Given the description of an element on the screen output the (x, y) to click on. 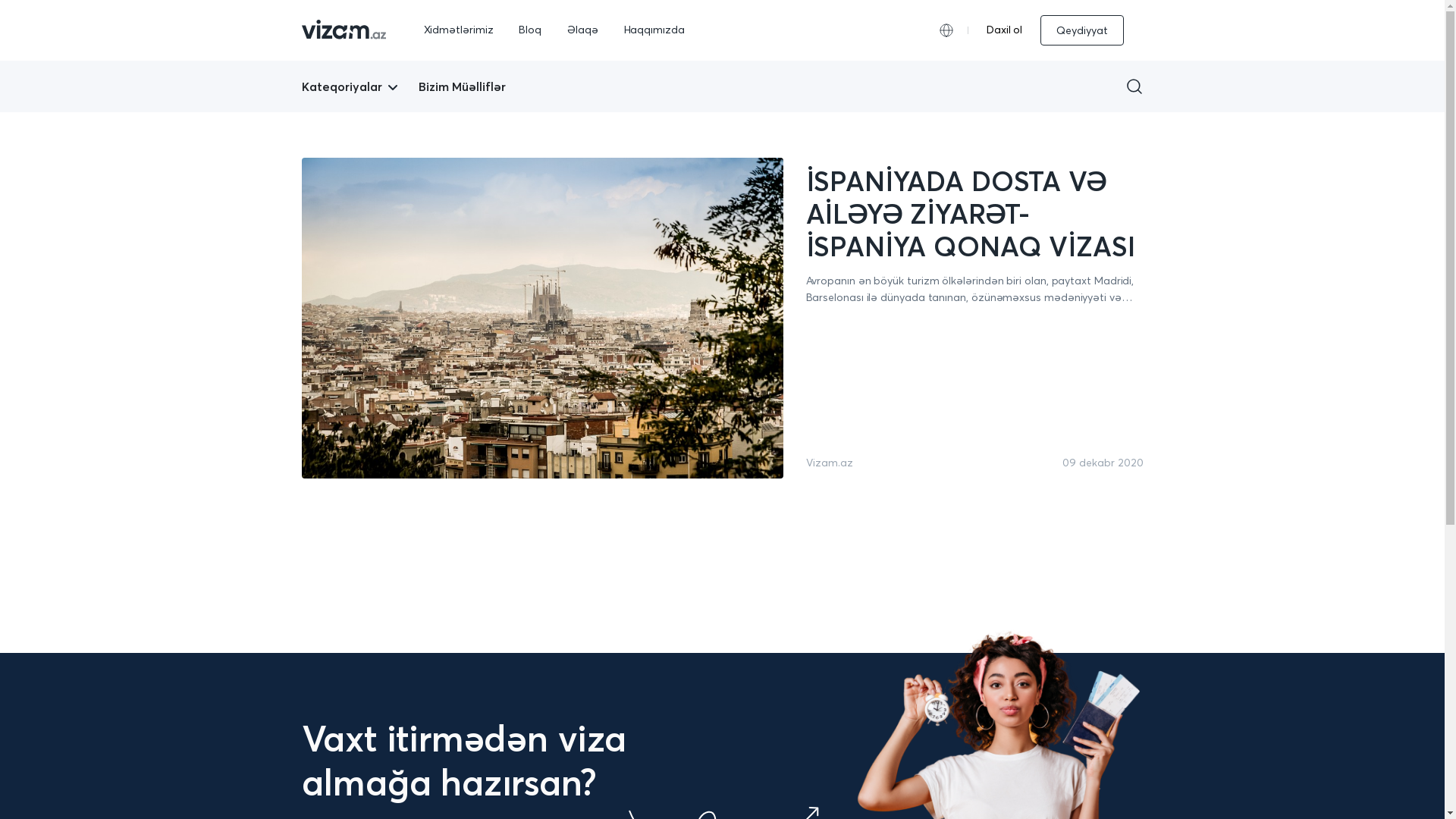
Qeydiyyat Element type: text (1081, 30)
Bloq Element type: text (529, 29)
Kateqoriyalar Element type: text (341, 86)
Vizam.az Element type: text (828, 462)
Daxil ol Element type: text (1004, 29)
